Given the description of an element on the screen output the (x, y) to click on. 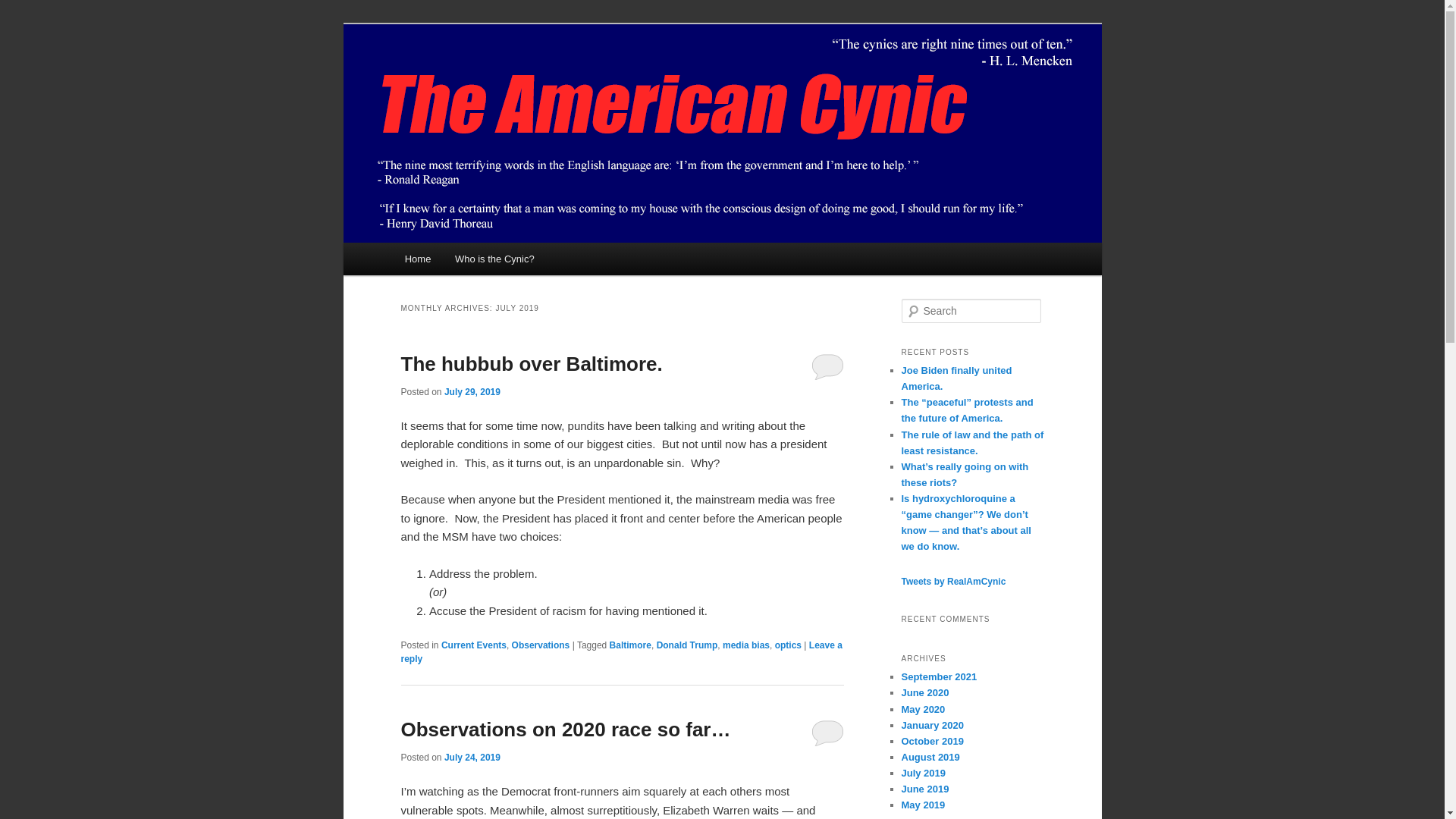
Who is the Cynic? (494, 258)
Donald Trump (686, 644)
The American Cynic (508, 78)
10:11 pm (472, 757)
Observations (541, 644)
Current Events (473, 644)
Baltimore (630, 644)
July 24, 2019 (472, 757)
The hubbub over Baltimore. (531, 363)
media bias (746, 644)
July 29, 2019 (472, 391)
11:36 am (472, 391)
Leave a reply (620, 651)
Home (417, 258)
